Given the description of an element on the screen output the (x, y) to click on. 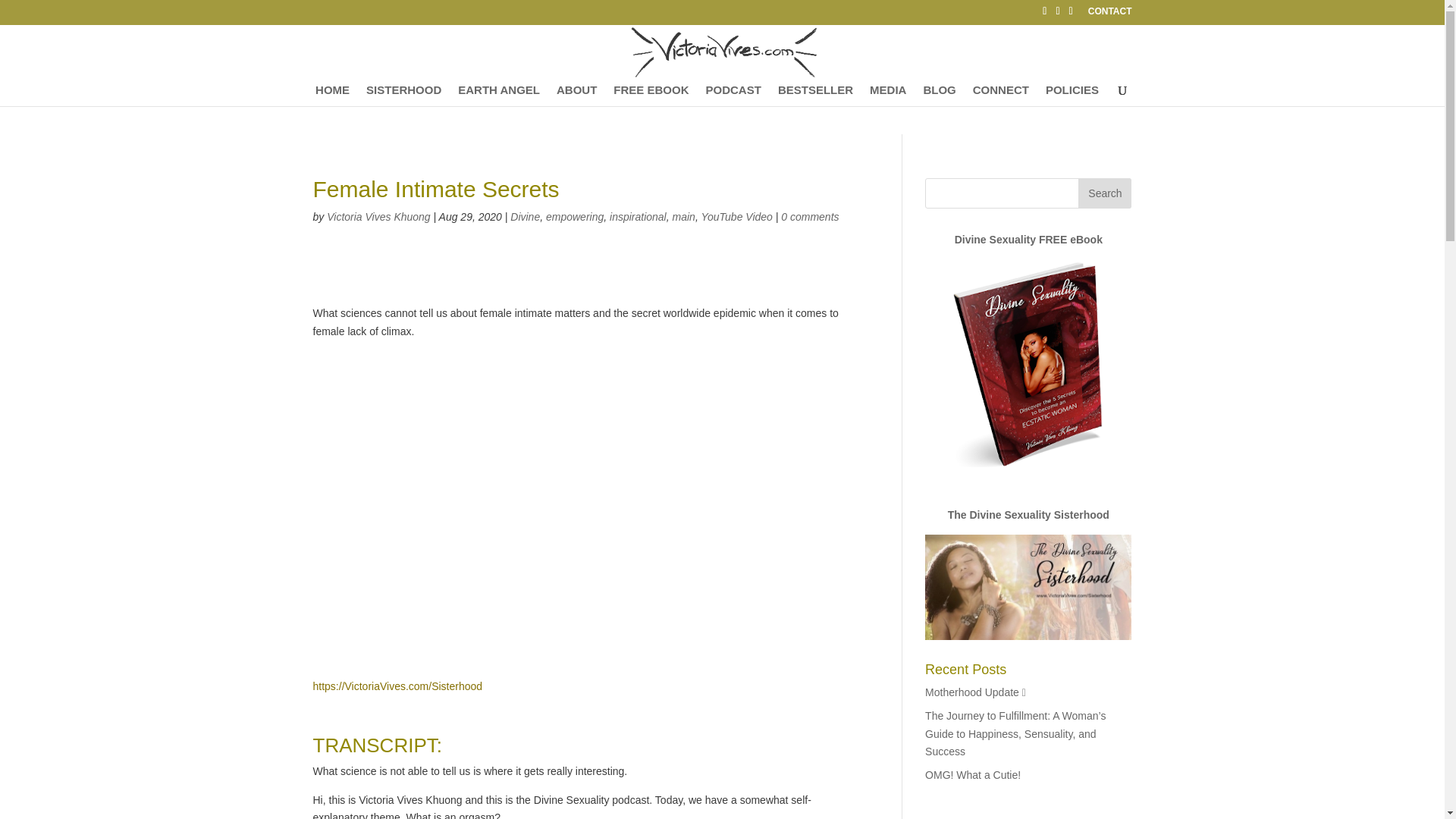
ABOUT (576, 95)
0 comments (809, 216)
Divine Sexuality FREE eBook (1028, 239)
HOME (332, 95)
Divine (525, 216)
POLICIES (1072, 95)
Search (1104, 193)
Posts by Victoria Vives Khuong (377, 216)
The Divine Sexuality Sisterhood (1028, 514)
